Given the description of an element on the screen output the (x, y) to click on. 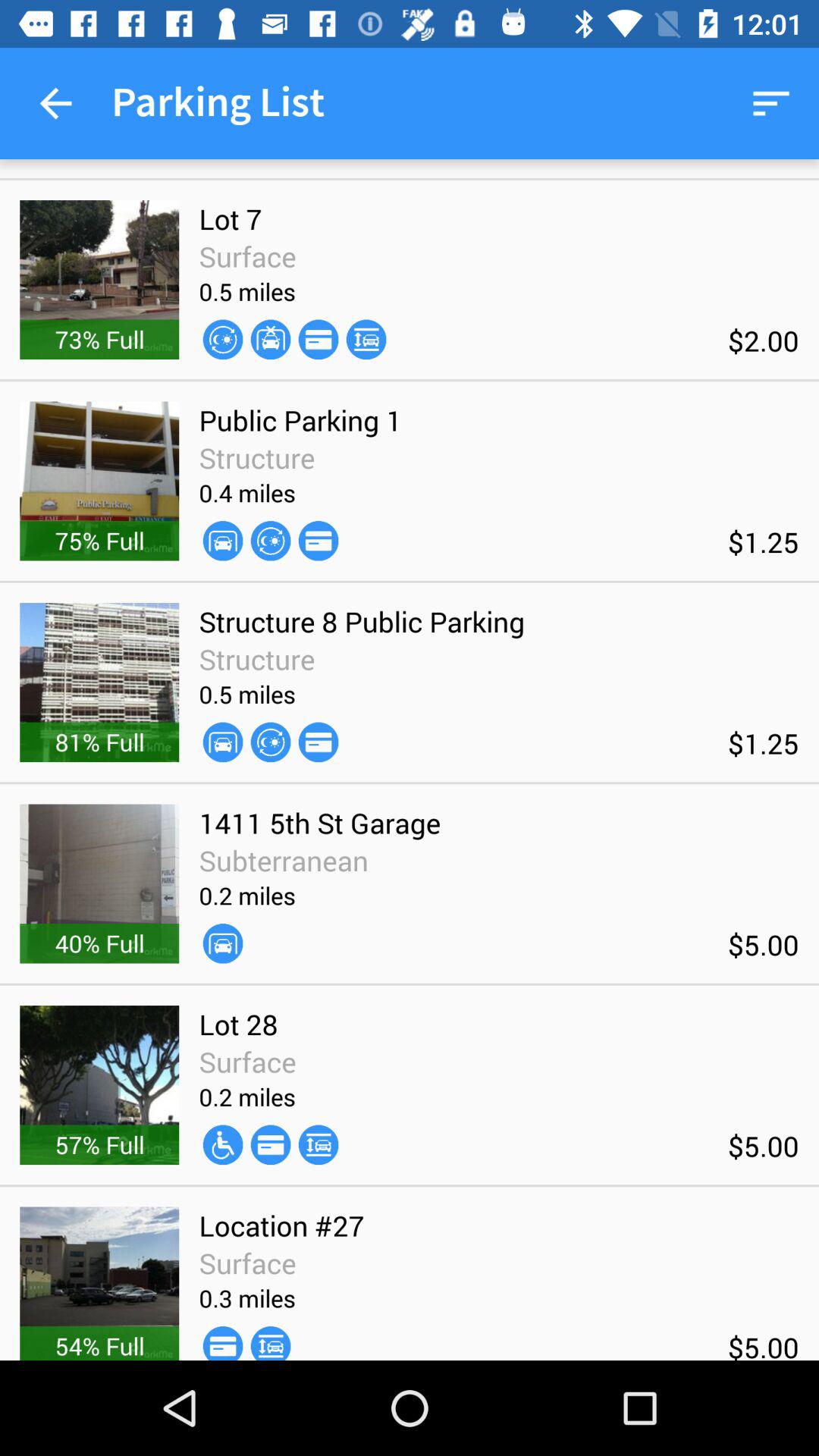
turn off the icon to the left of the parking list (55, 103)
